Given the description of an element on the screen output the (x, y) to click on. 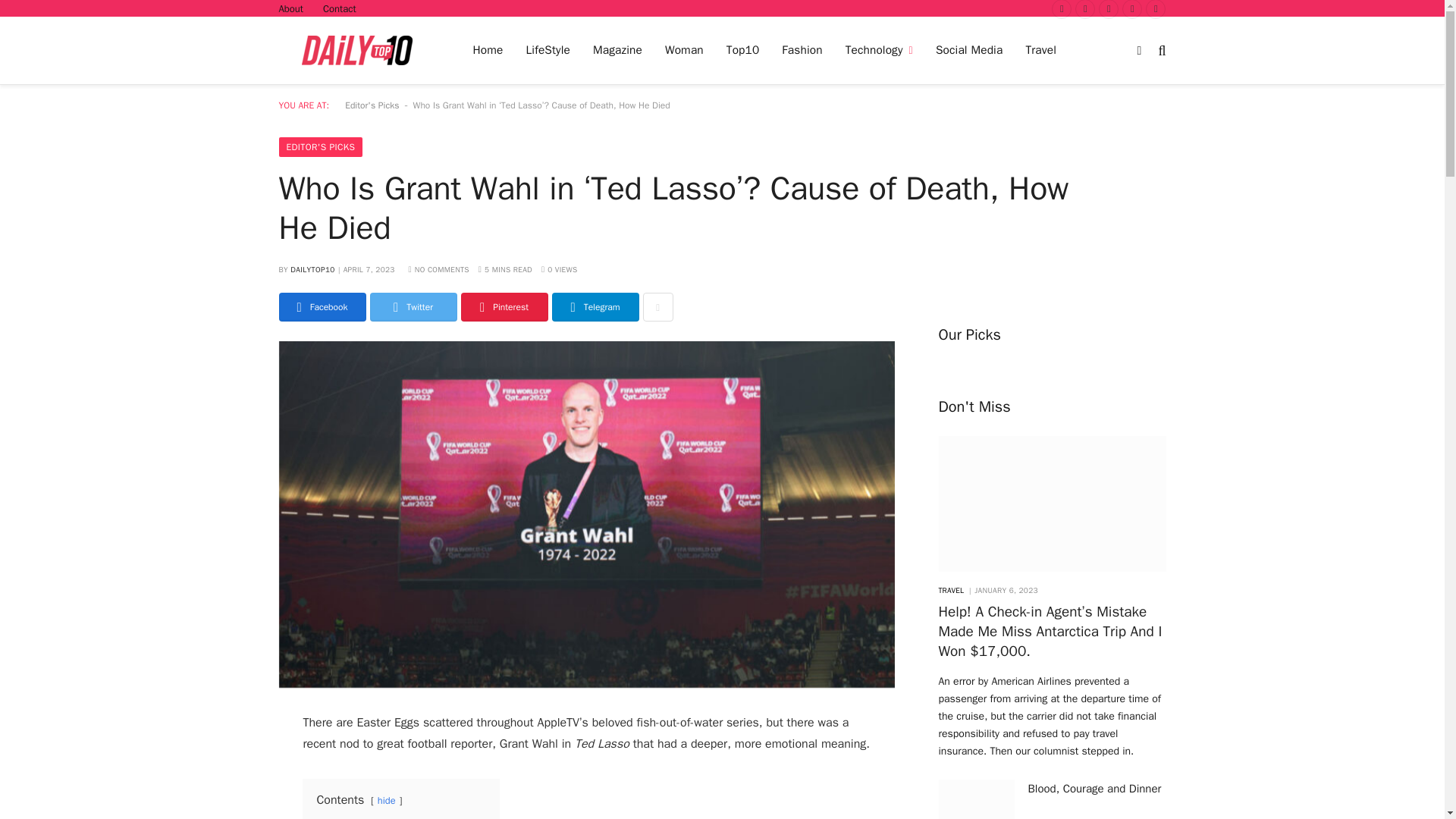
Pinterest (1131, 9)
Woman (683, 50)
Fashion (801, 50)
Contact (339, 8)
LifeStyle (546, 50)
Facebook (1061, 9)
About (290, 8)
DailyTop10.Net (357, 49)
Magazine (616, 50)
Instagram (1108, 9)
Vimeo (1155, 9)
Twitter (1084, 9)
Technology (879, 50)
Switch to Dark Design - easier on eyes. (1138, 50)
